Given the description of an element on the screen output the (x, y) to click on. 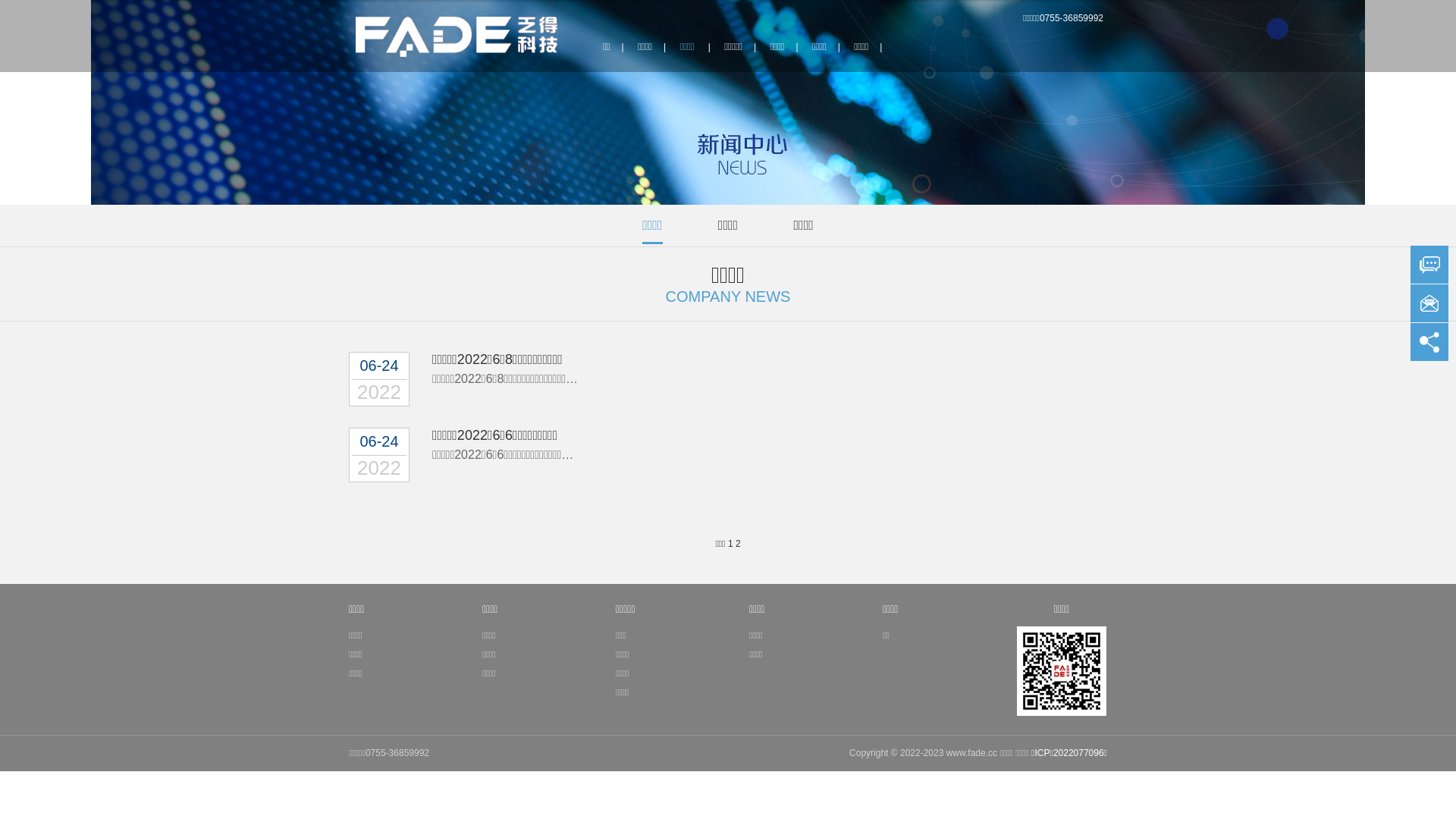
1 Element type: text (730, 543)
